Given the description of an element on the screen output the (x, y) to click on. 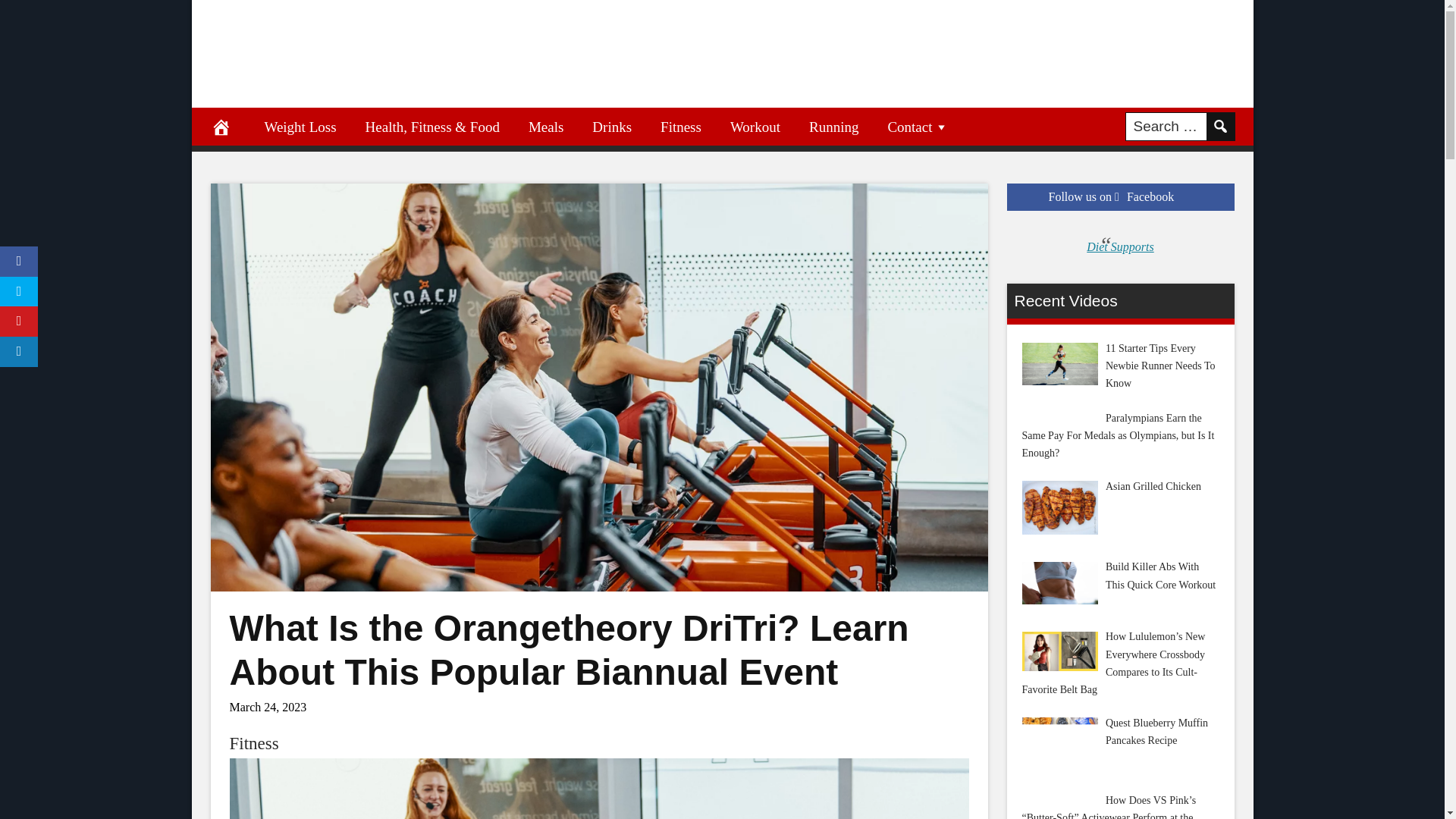
Weight Loss (300, 126)
Drinks (612, 126)
Contact (917, 126)
people on rowers doing the Orangetheory DriTri in a studio (598, 788)
Workout (755, 126)
Running (833, 126)
Fitness (253, 742)
Fitness (681, 126)
Fitness (253, 742)
Meals (545, 126)
